Given the description of an element on the screen output the (x, y) to click on. 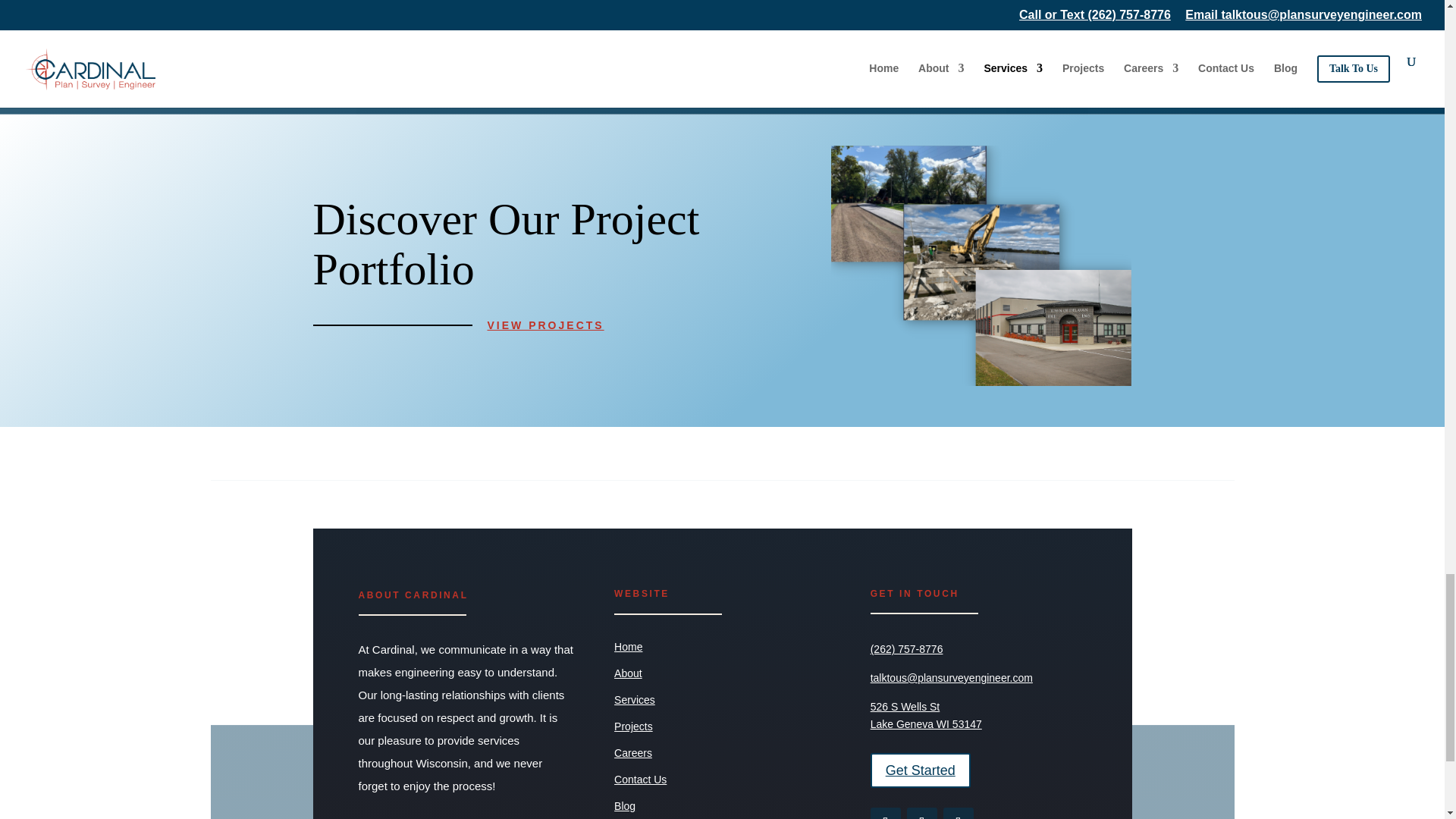
Follow on Facebook (885, 813)
Home (628, 646)
VIEW PROJECTS (545, 324)
About (628, 673)
Follow on LinkedIn (958, 813)
Follow on Instagram (922, 813)
